Given the description of an element on the screen output the (x, y) to click on. 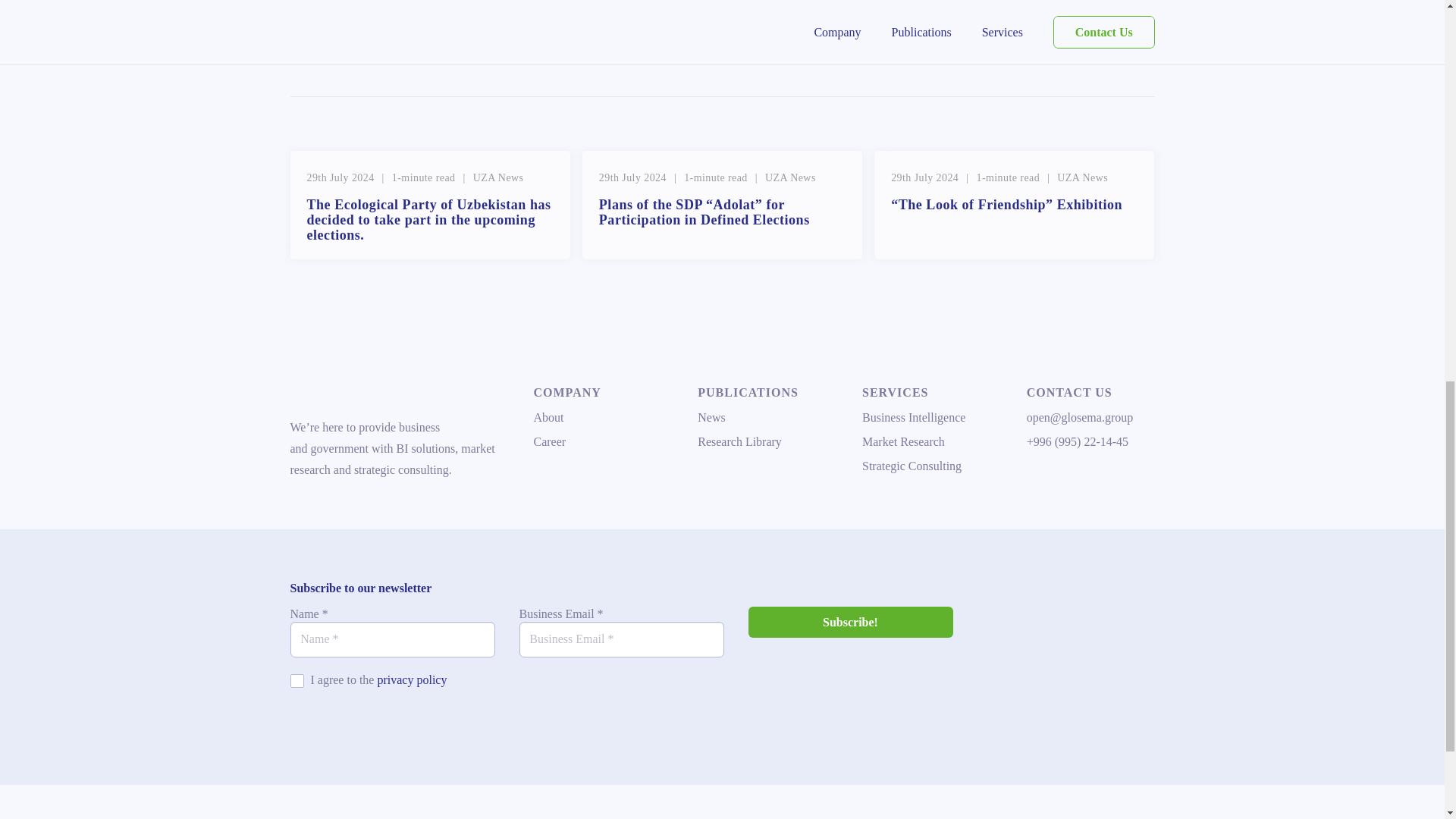
UZA News (1082, 177)
Email this (351, 20)
UZA News (498, 177)
1 (295, 680)
Share this (307, 20)
Share this (395, 20)
Back to top (1413, 30)
Business Email (620, 639)
Share this (438, 20)
Name (392, 639)
UZA News (790, 177)
